Given the description of an element on the screen output the (x, y) to click on. 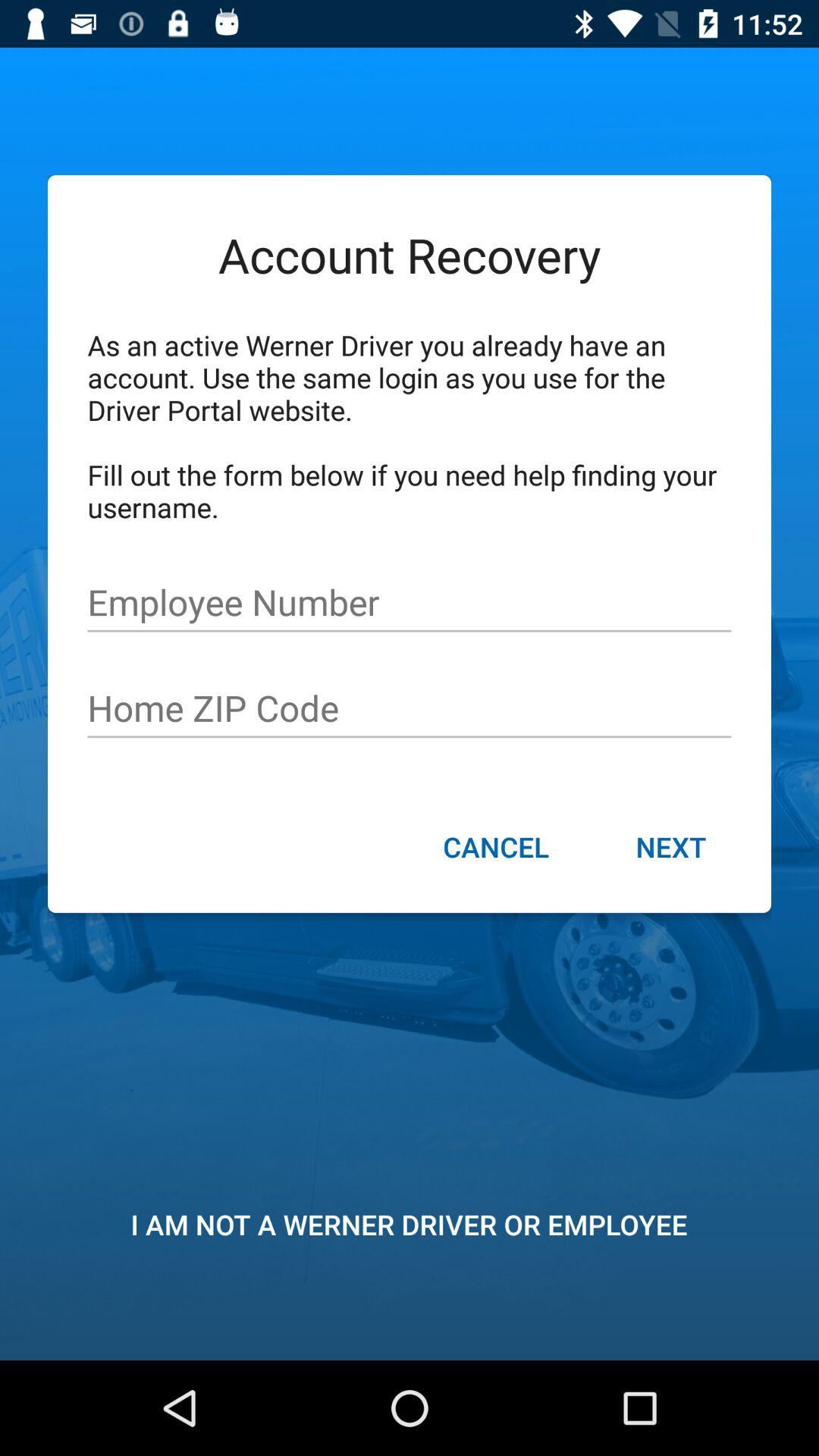
turn off the i am not item (408, 1224)
